Given the description of an element on the screen output the (x, y) to click on. 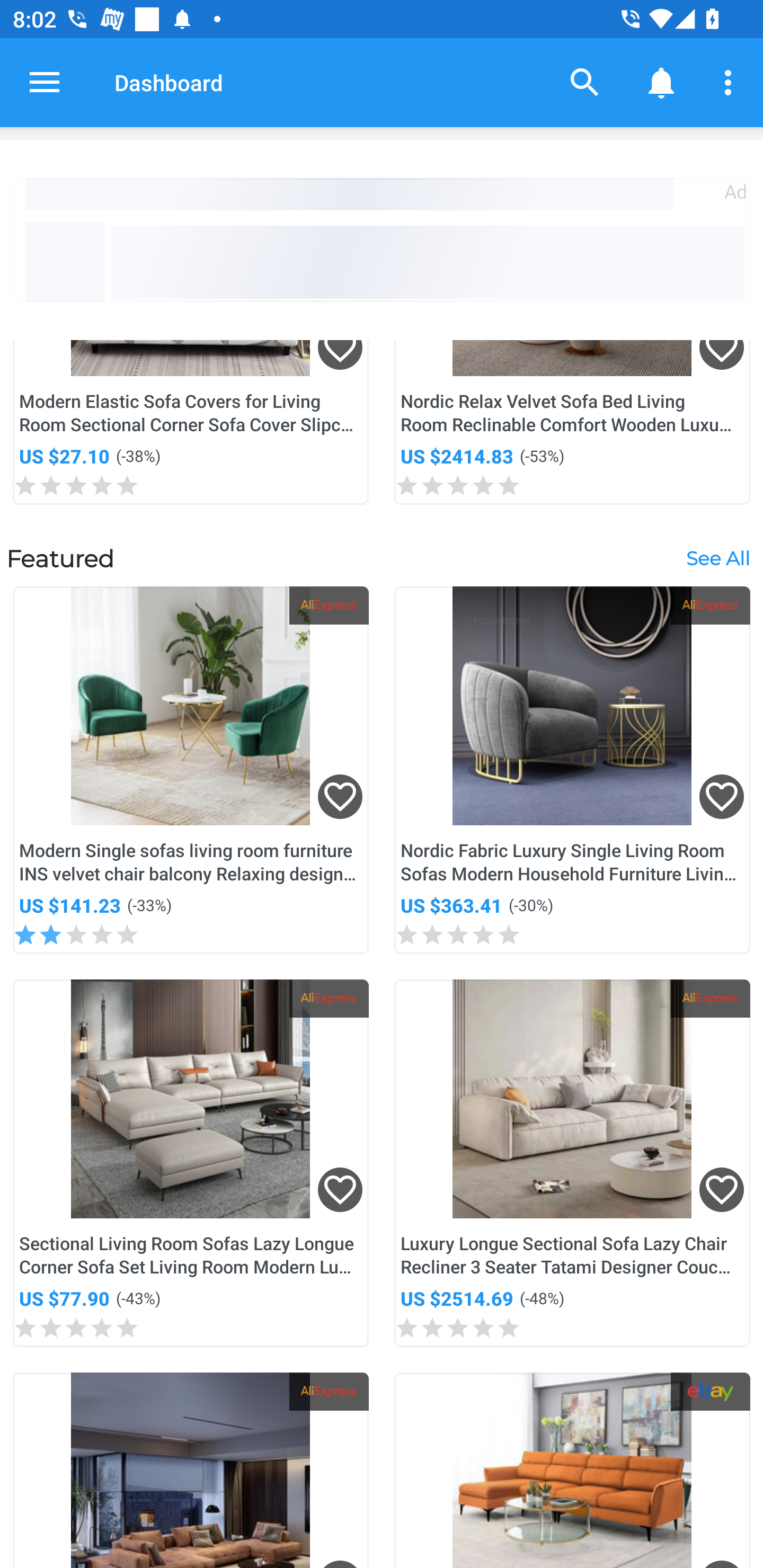
Open navigation drawer (44, 82)
Search (585, 81)
More options (731, 81)
See All (717, 557)
